Given the description of an element on the screen output the (x, y) to click on. 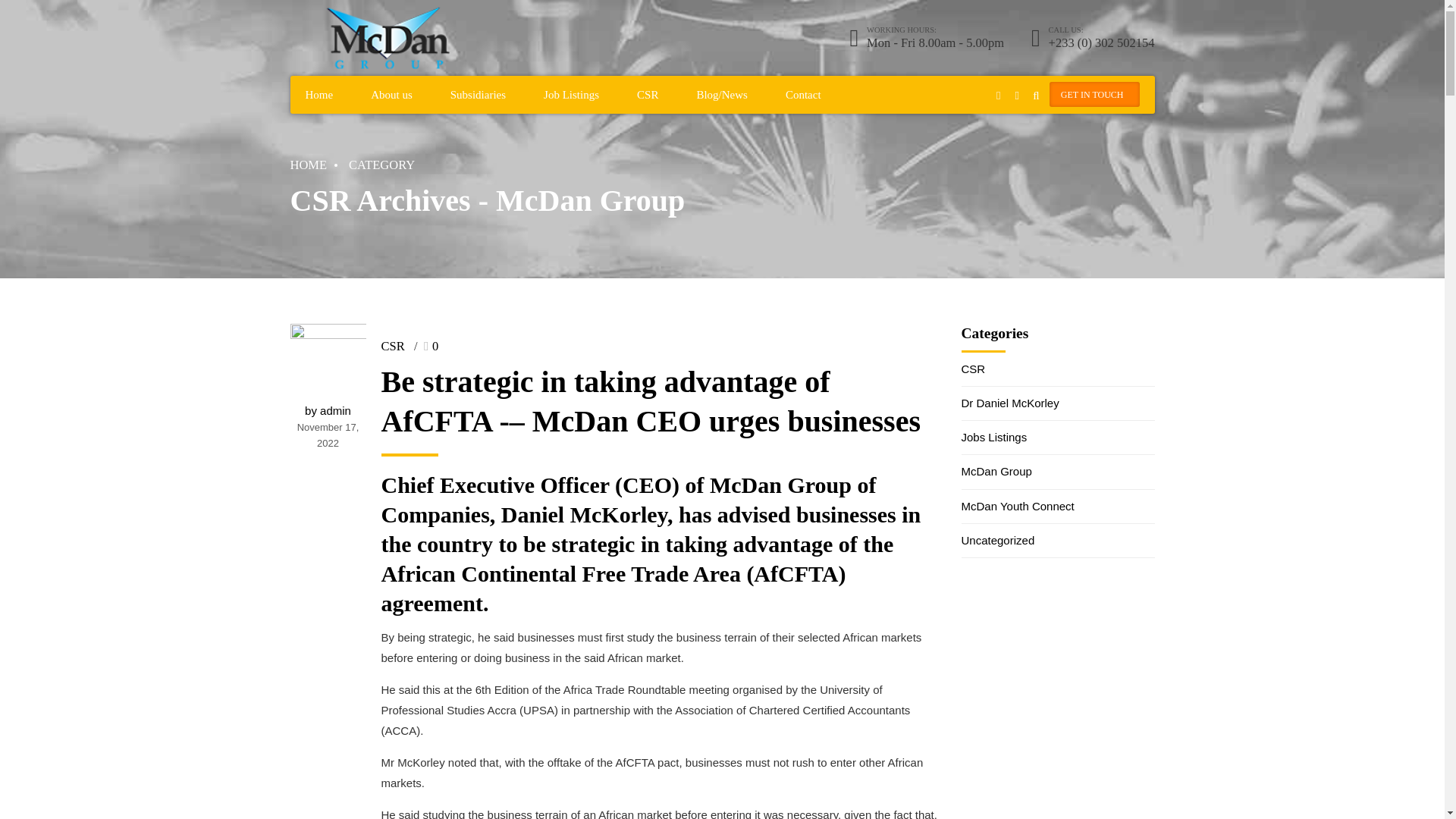
Job Listings (570, 94)
Contact (803, 94)
by admin (327, 410)
HOME (307, 164)
CSR (392, 345)
About us (391, 94)
Subsidiaries (477, 94)
GET IN TOUCH (1094, 94)
